Given the description of an element on the screen output the (x, y) to click on. 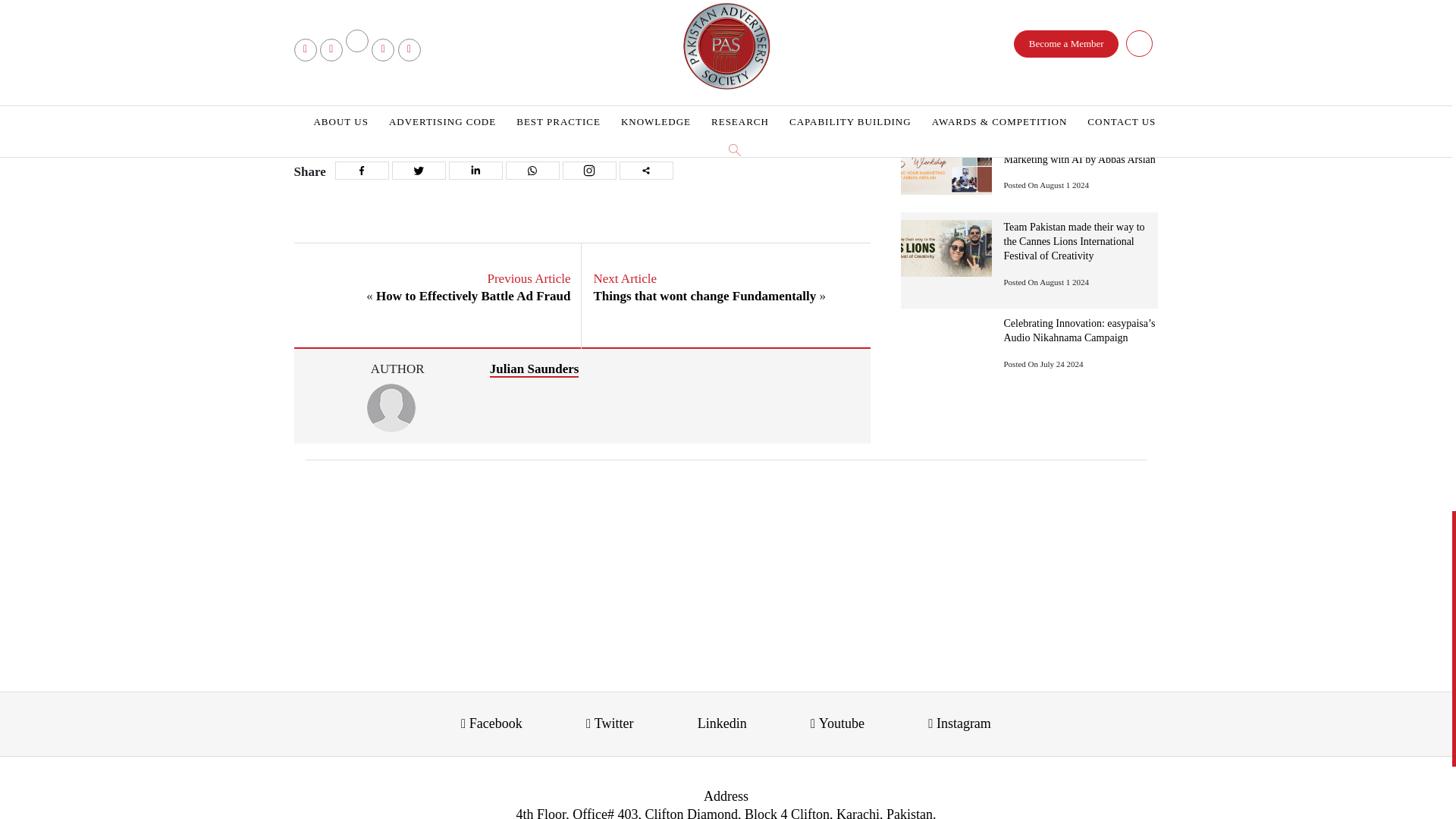
Instagram (588, 170)
Facebook (361, 170)
Whatsapp (532, 170)
More (646, 170)
Twitter (418, 170)
Linkedin (475, 170)
